Given the description of an element on the screen output the (x, y) to click on. 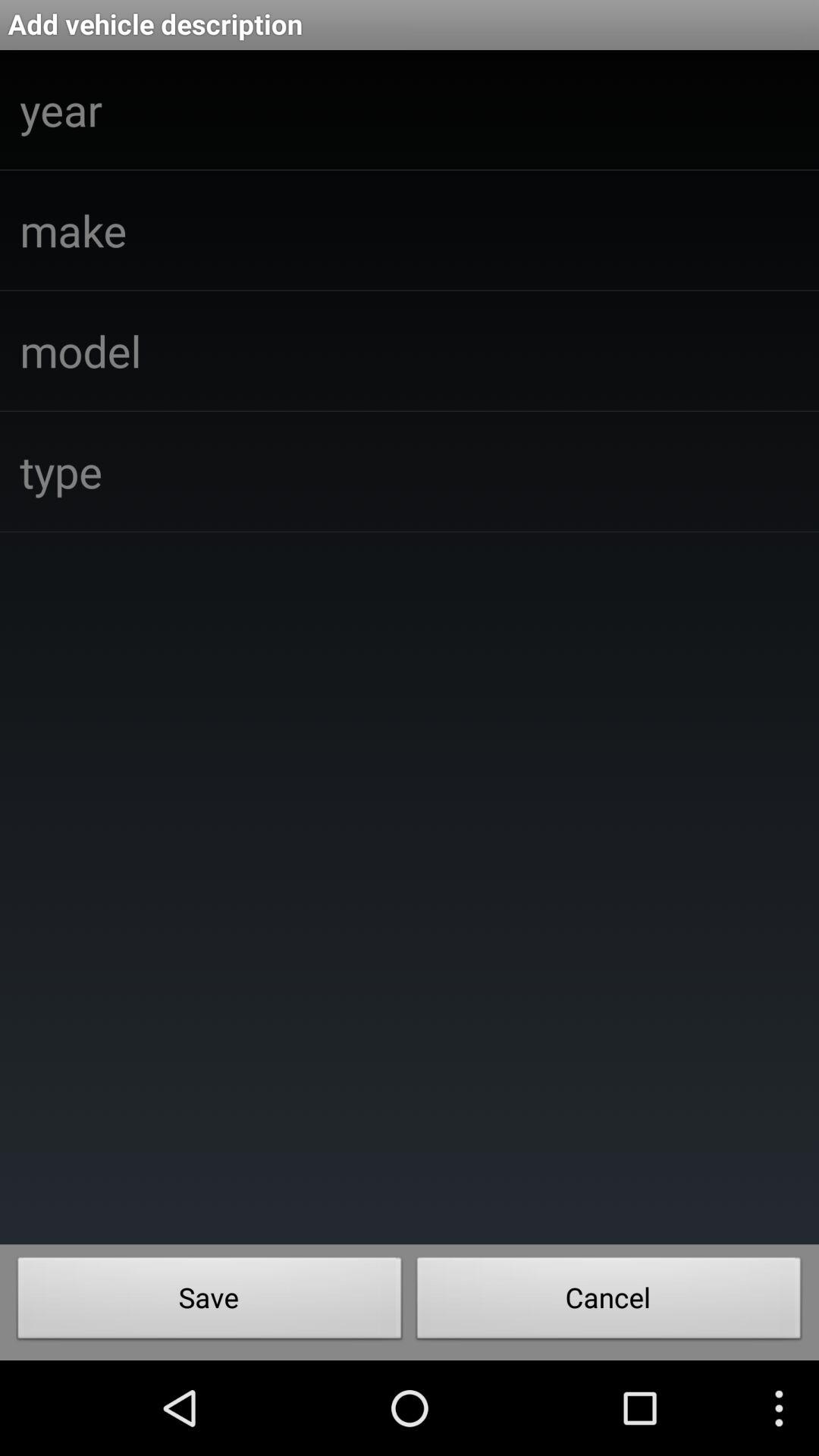
open the button to the right of the save item (608, 1302)
